Given the description of an element on the screen output the (x, y) to click on. 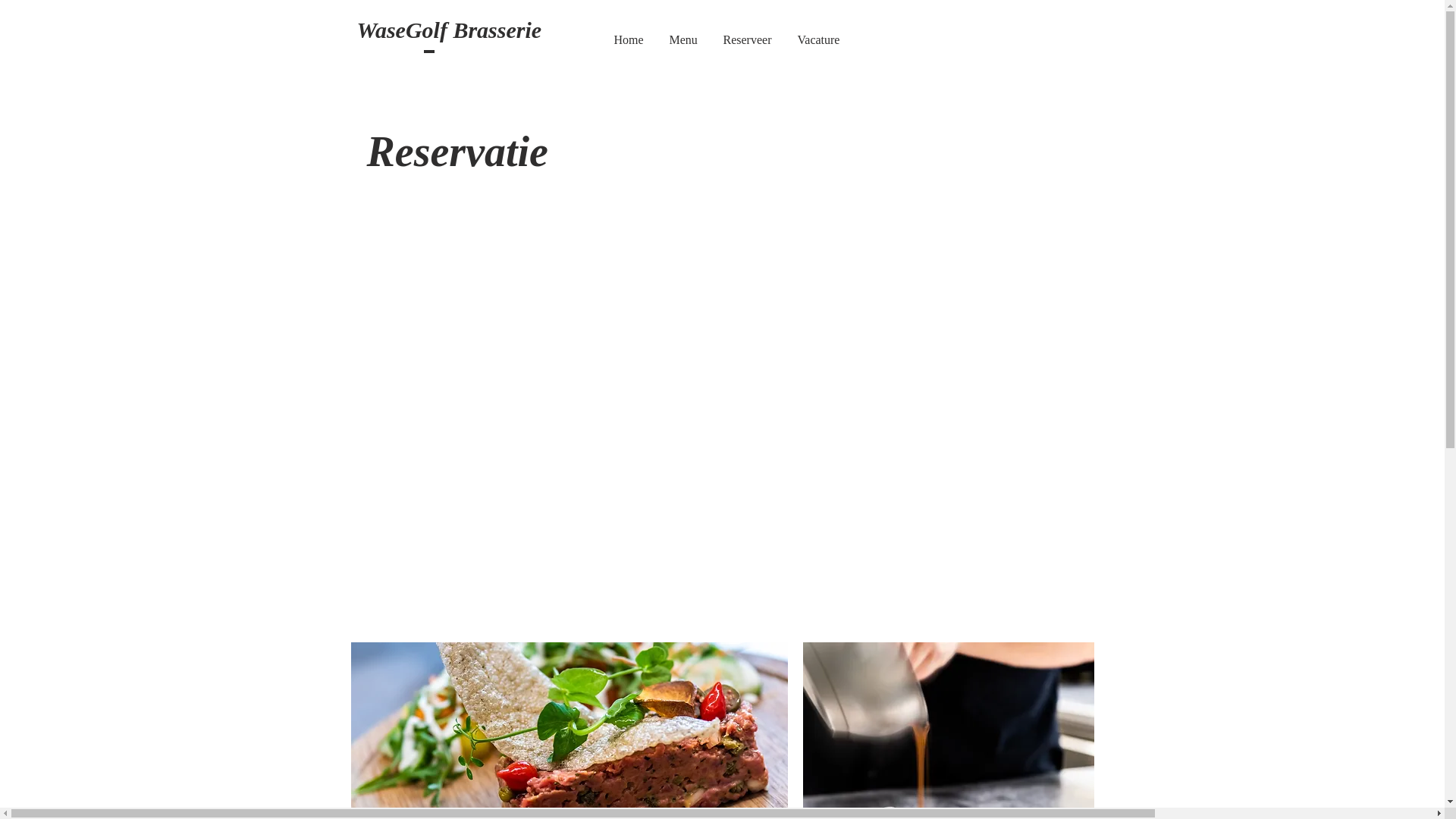
WaseGolf Brasserie Element type: text (448, 31)
Vacature Element type: text (818, 40)
Home Element type: text (627, 40)
Menu Element type: text (683, 40)
Reserveer Element type: text (746, 40)
Reservatie WaseGolf Element type: hover (721, 402)
